Given the description of an element on the screen output the (x, y) to click on. 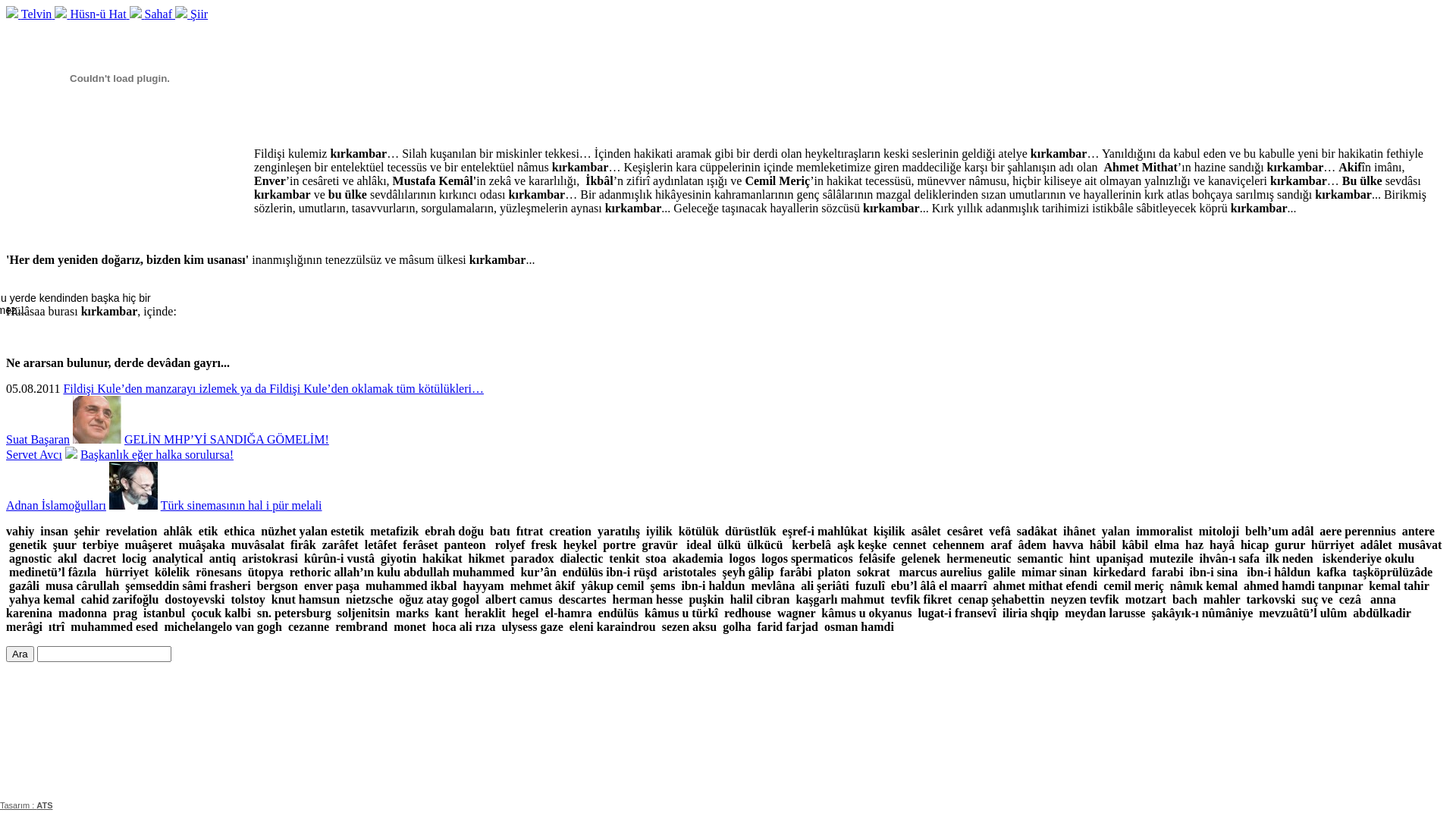
Telvin Element type: text (30, 13)
Sahaf Element type: text (152, 13)
Ara Element type: text (20, 654)
